Given the description of an element on the screen output the (x, y) to click on. 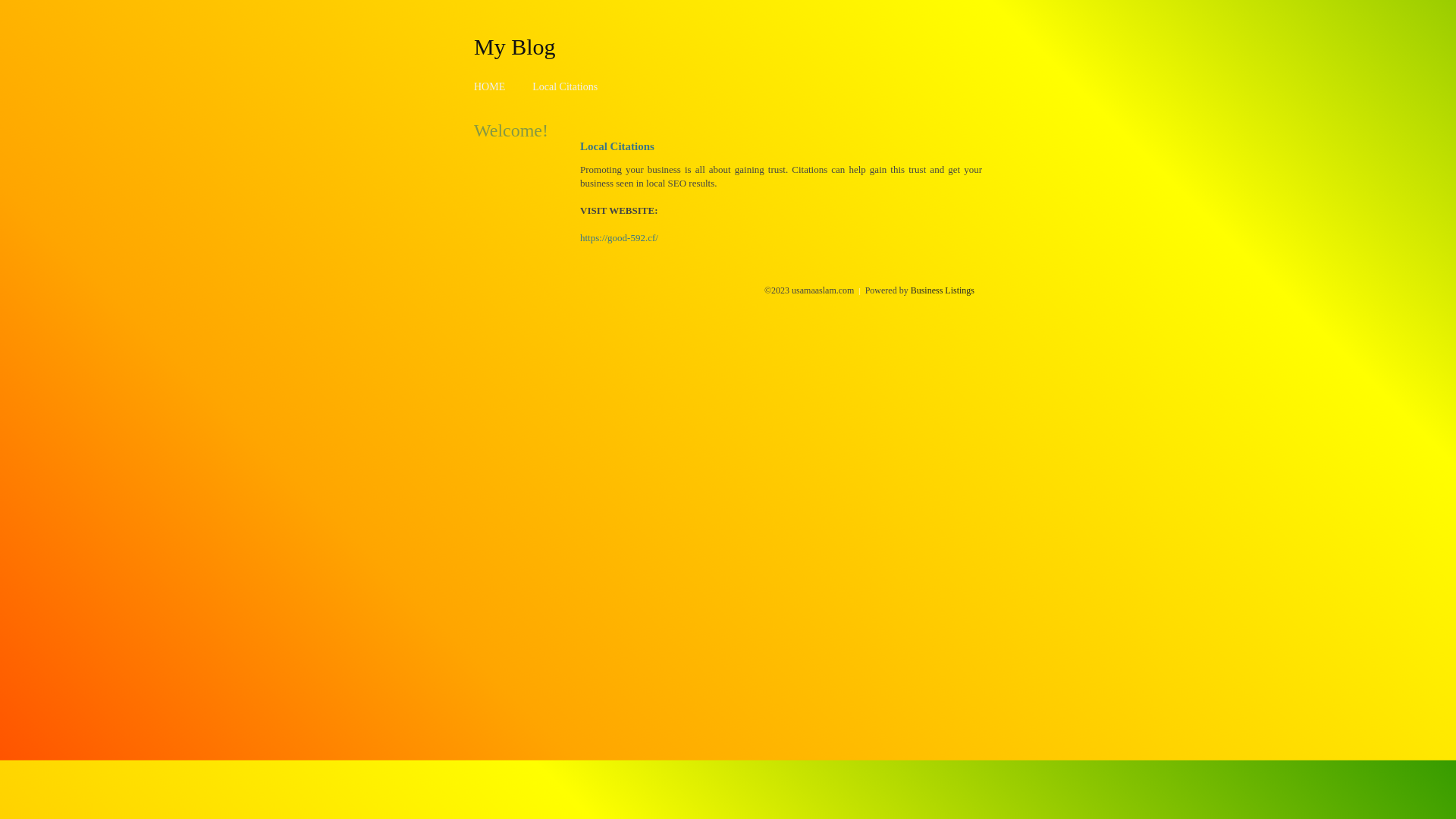
Business Listings Element type: text (942, 290)
My Blog Element type: text (514, 46)
Local Citations Element type: text (564, 86)
https://good-592.cf/ Element type: text (619, 237)
HOME Element type: text (489, 86)
